Given the description of an element on the screen output the (x, y) to click on. 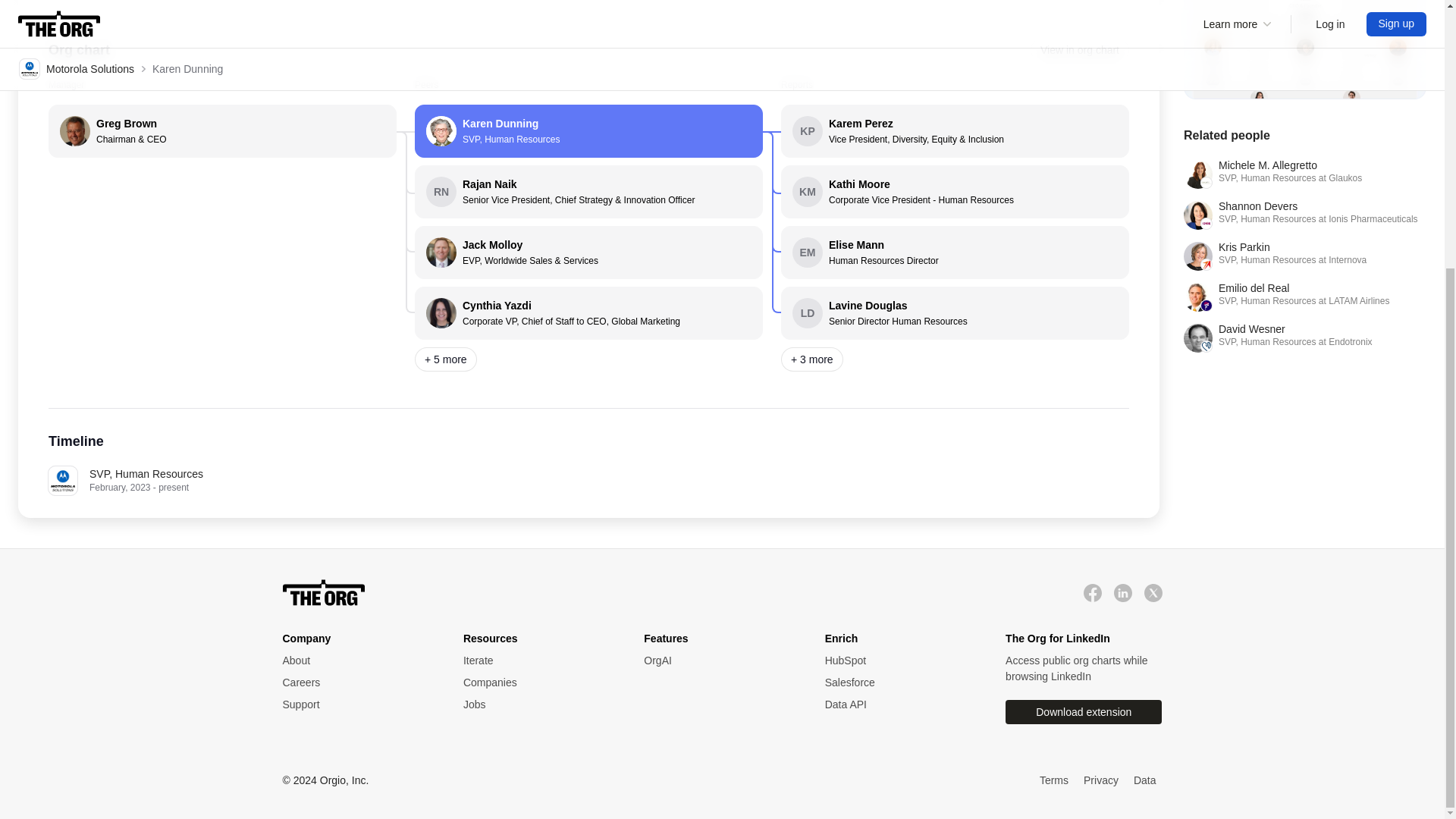
Support (357, 704)
Data API (900, 704)
Support (1304, 215)
Careers (954, 191)
View in org chart (1304, 256)
The Org logo (357, 704)
Facebook (357, 682)
LinkedIn (1079, 49)
Iterate (323, 592)
Jobs (1091, 592)
Companies (1122, 592)
OrgAI (537, 660)
